Given the description of an element on the screen output the (x, y) to click on. 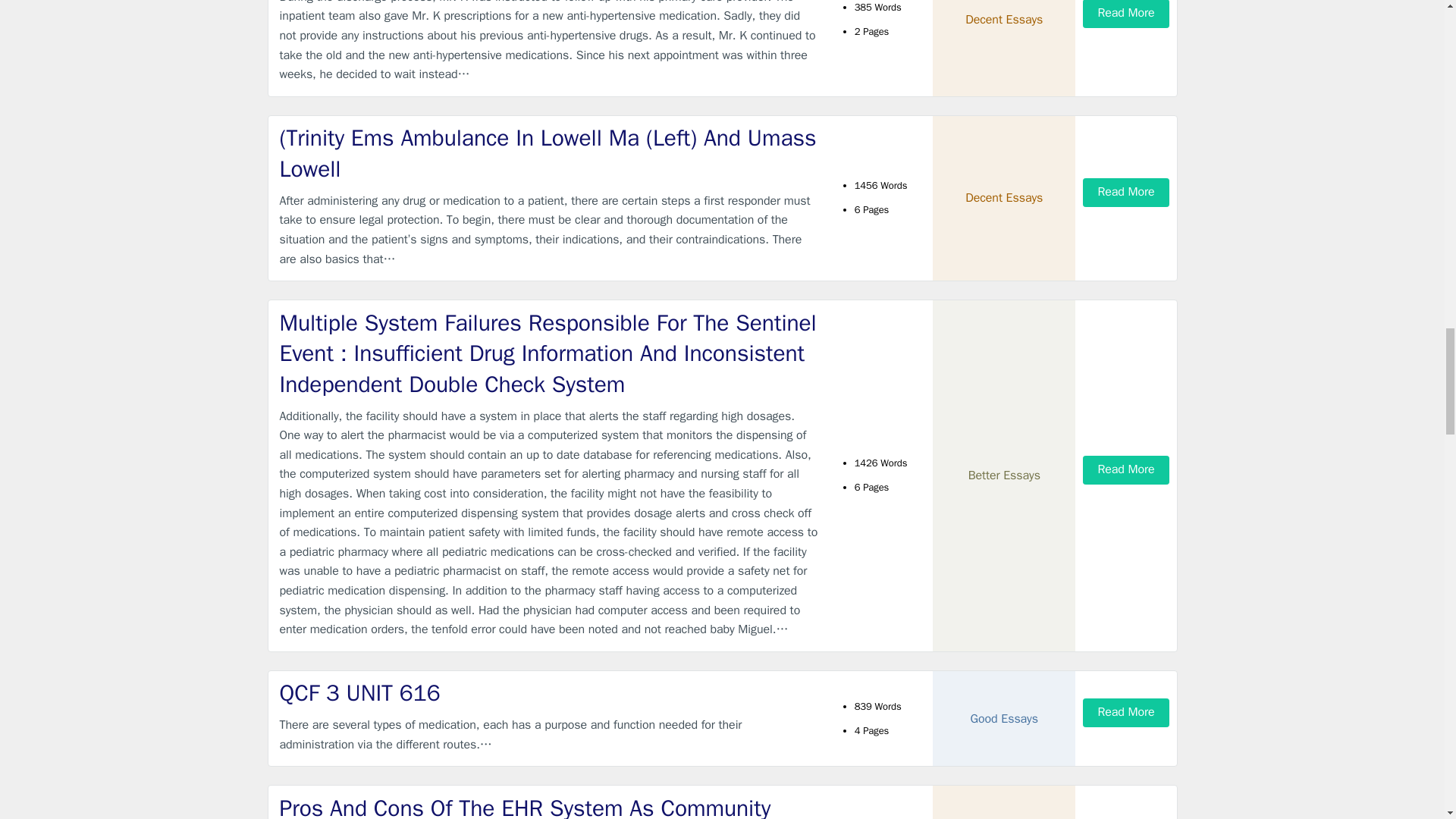
Read More (1126, 192)
Read More (1126, 13)
Read More (1126, 712)
QCF 3 UNIT 616 (548, 693)
Read More (1126, 469)
Pros And Cons Of The EHR System As Community Hospital (548, 806)
